Given the description of an element on the screen output the (x, y) to click on. 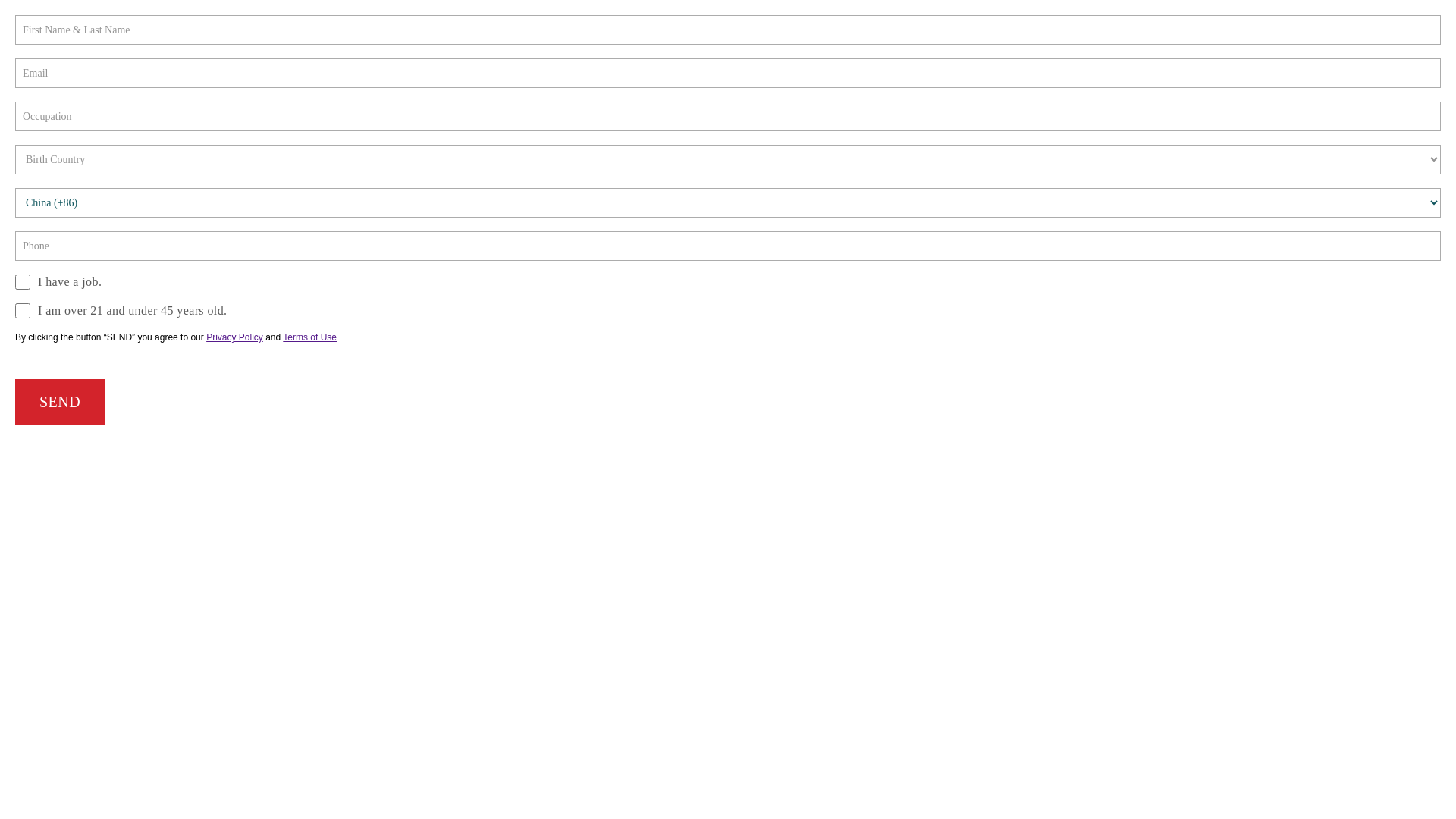
Terms of Use Element type: text (309, 337)
Privacy Policy Element type: text (234, 337)
